Given the description of an element on the screen output the (x, y) to click on. 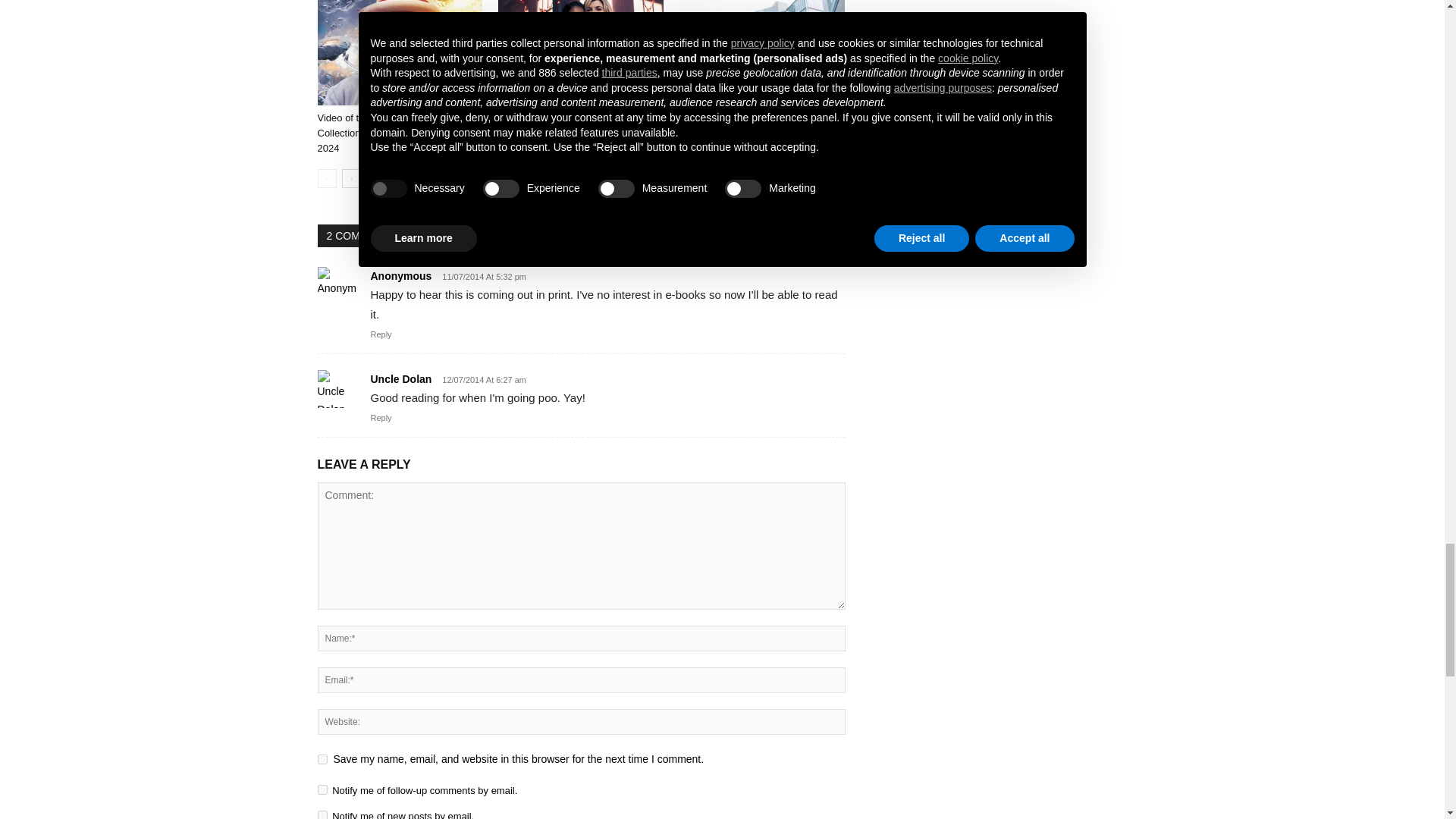
yes (321, 759)
subscribe (321, 814)
subscribe (321, 789)
